Given the description of an element on the screen output the (x, y) to click on. 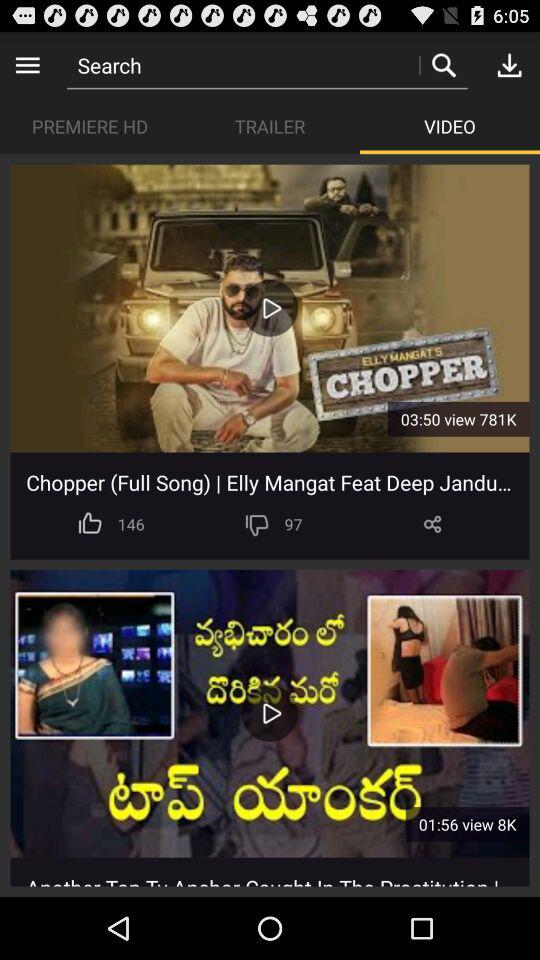
turn on icon below chopper full song item (256, 523)
